Given the description of an element on the screen output the (x, y) to click on. 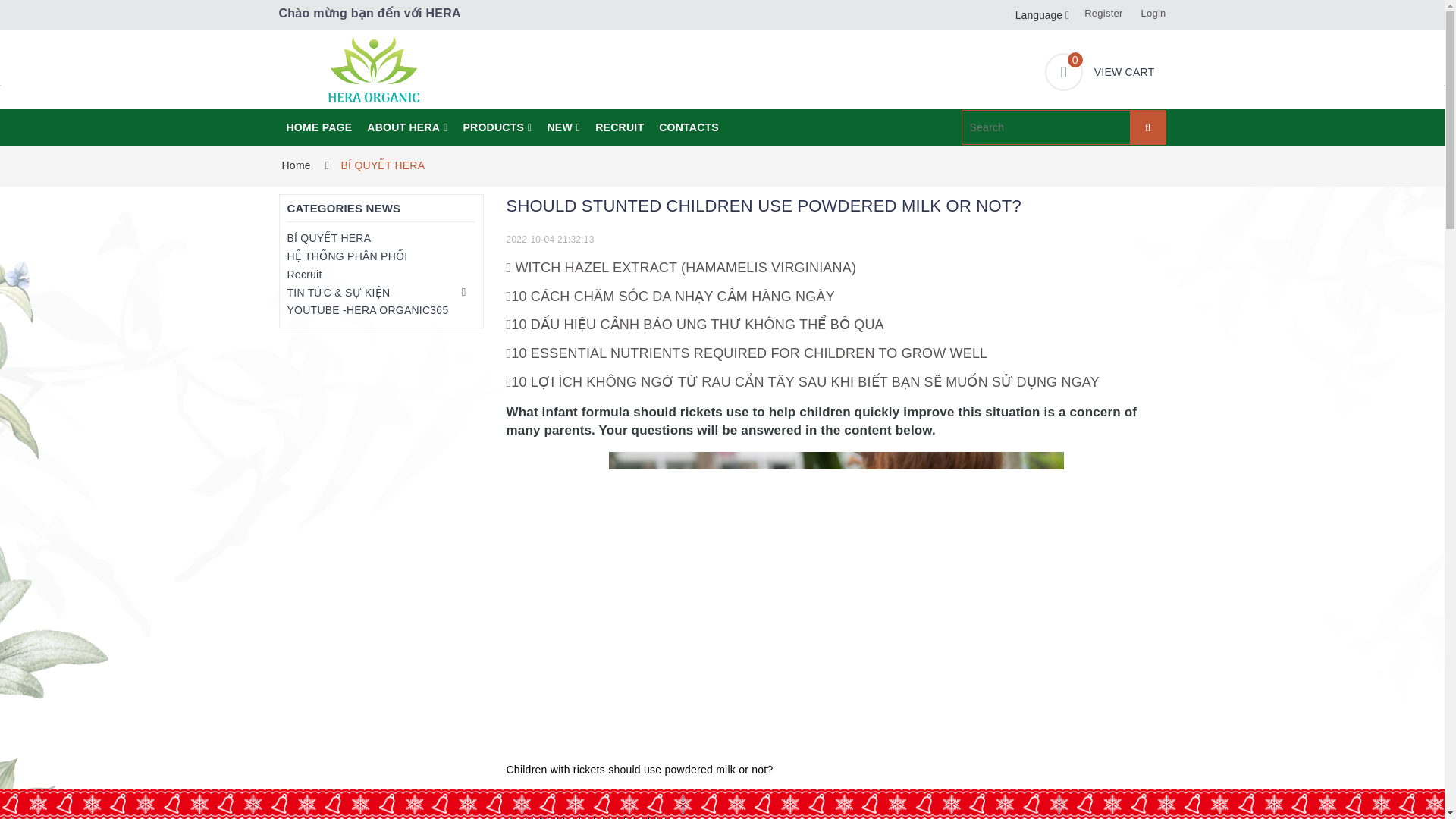
Login (1153, 12)
View Cart (1099, 71)
10 ESSENTIAL NUTRIENTS REQUIRED FOR CHILDREN TO GROW WELL (747, 353)
NEW (563, 126)
Register (1103, 12)
English (1099, 71)
PRODUCTS (406, 126)
Language (496, 126)
RECRUIT (1047, 15)
HOME PAGE (619, 126)
